Given the description of an element on the screen output the (x, y) to click on. 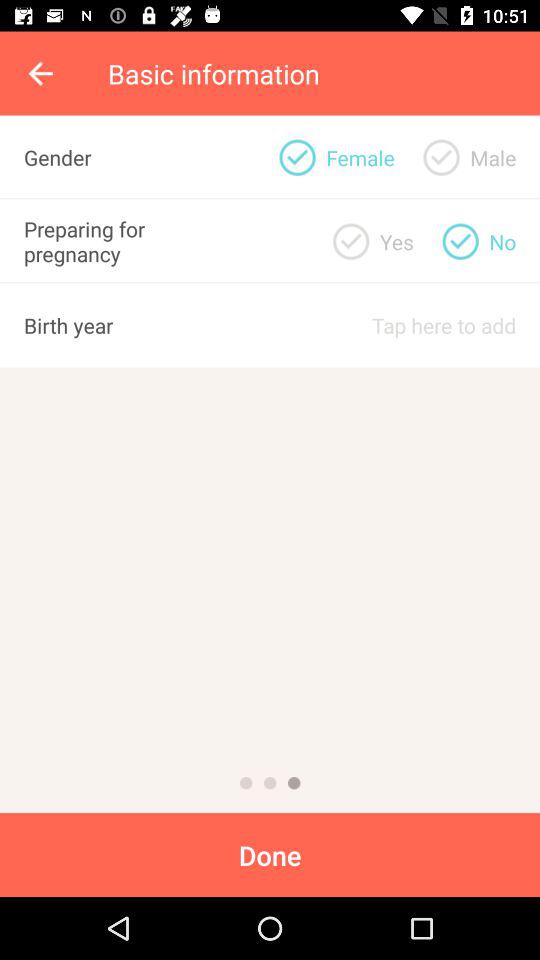
select no (460, 241)
